Given the description of an element on the screen output the (x, y) to click on. 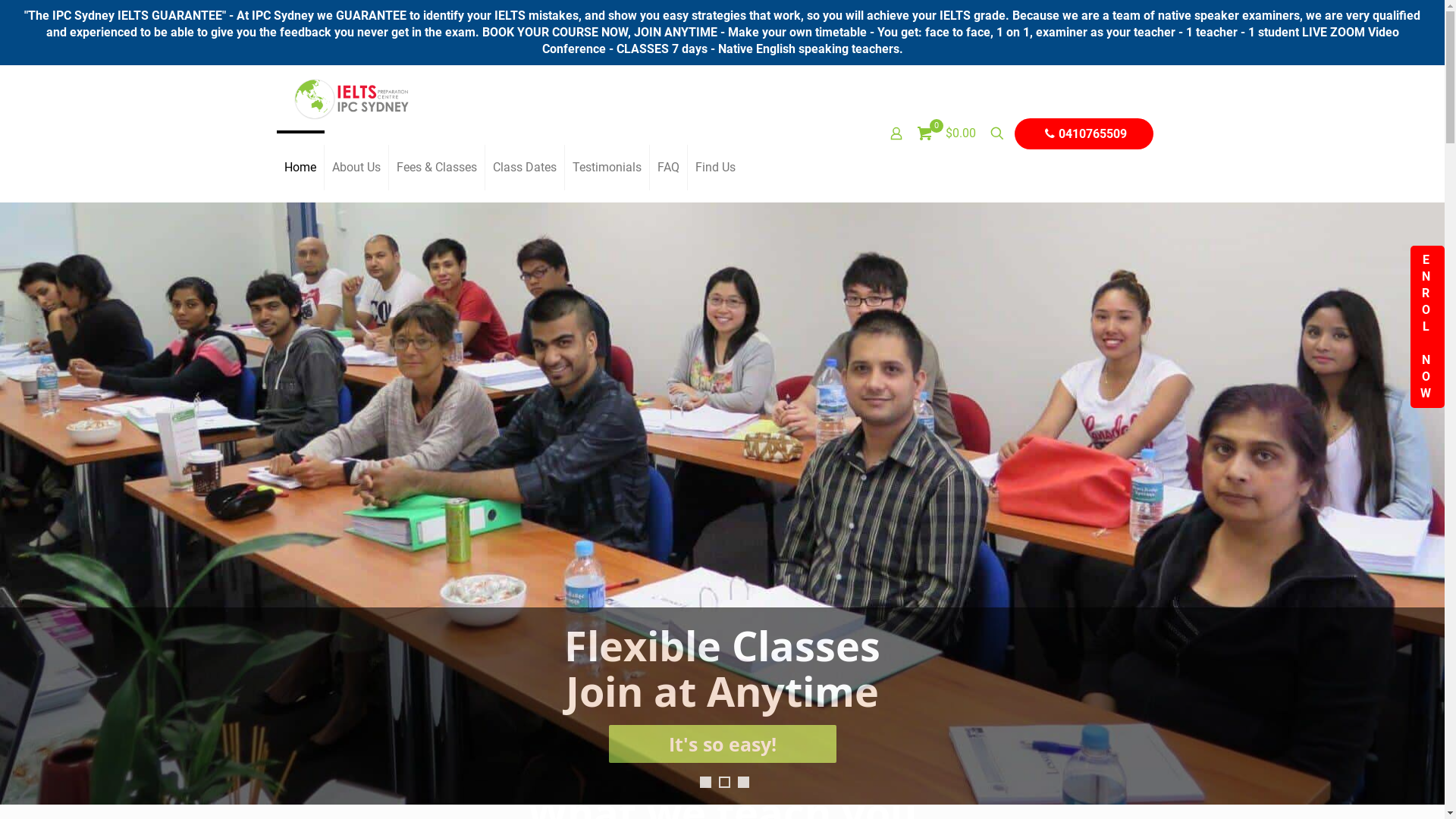
0410765509 Element type: text (1083, 133)
Fees & Classes Element type: text (436, 167)
Class Dates Element type: text (524, 167)
3 Element type: text (742, 781)
2 Element type: text (724, 781)
Testimonials Element type: text (606, 167)
1 Element type: text (704, 781)
Find Us Element type: text (714, 167)
0
$0.00 Element type: text (946, 133)
Home Element type: text (299, 167)
FAQ Element type: text (668, 167)
IELTS IPC Sydney banner Element type: hover (722, 503)
E
N
R
O
L

N
O
W Element type: text (1427, 326)
About Us Element type: text (356, 167)
